Given the description of an element on the screen output the (x, y) to click on. 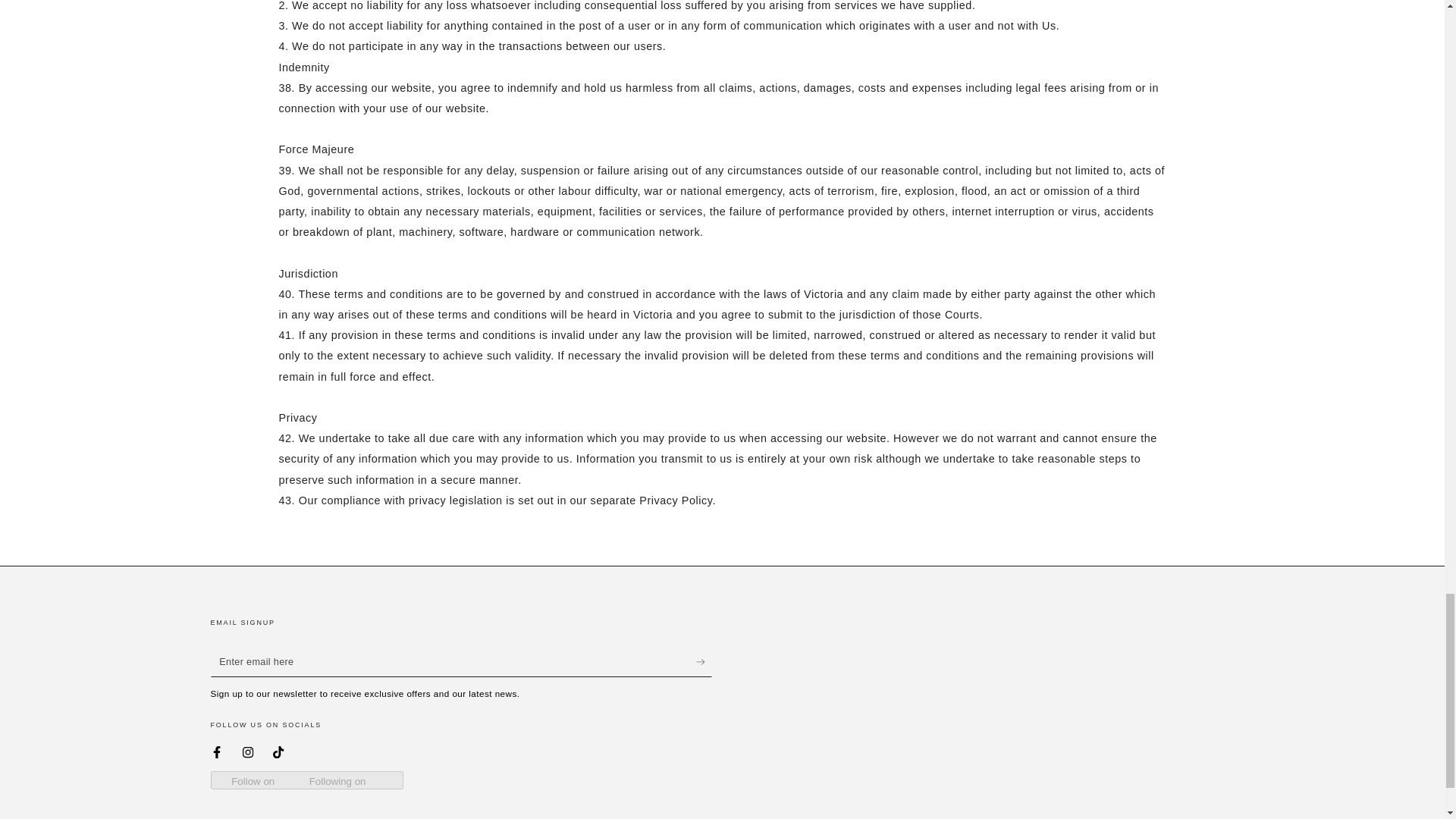
TikTok (278, 751)
Facebook (216, 751)
Instagram (248, 751)
